Given the description of an element on the screen output the (x, y) to click on. 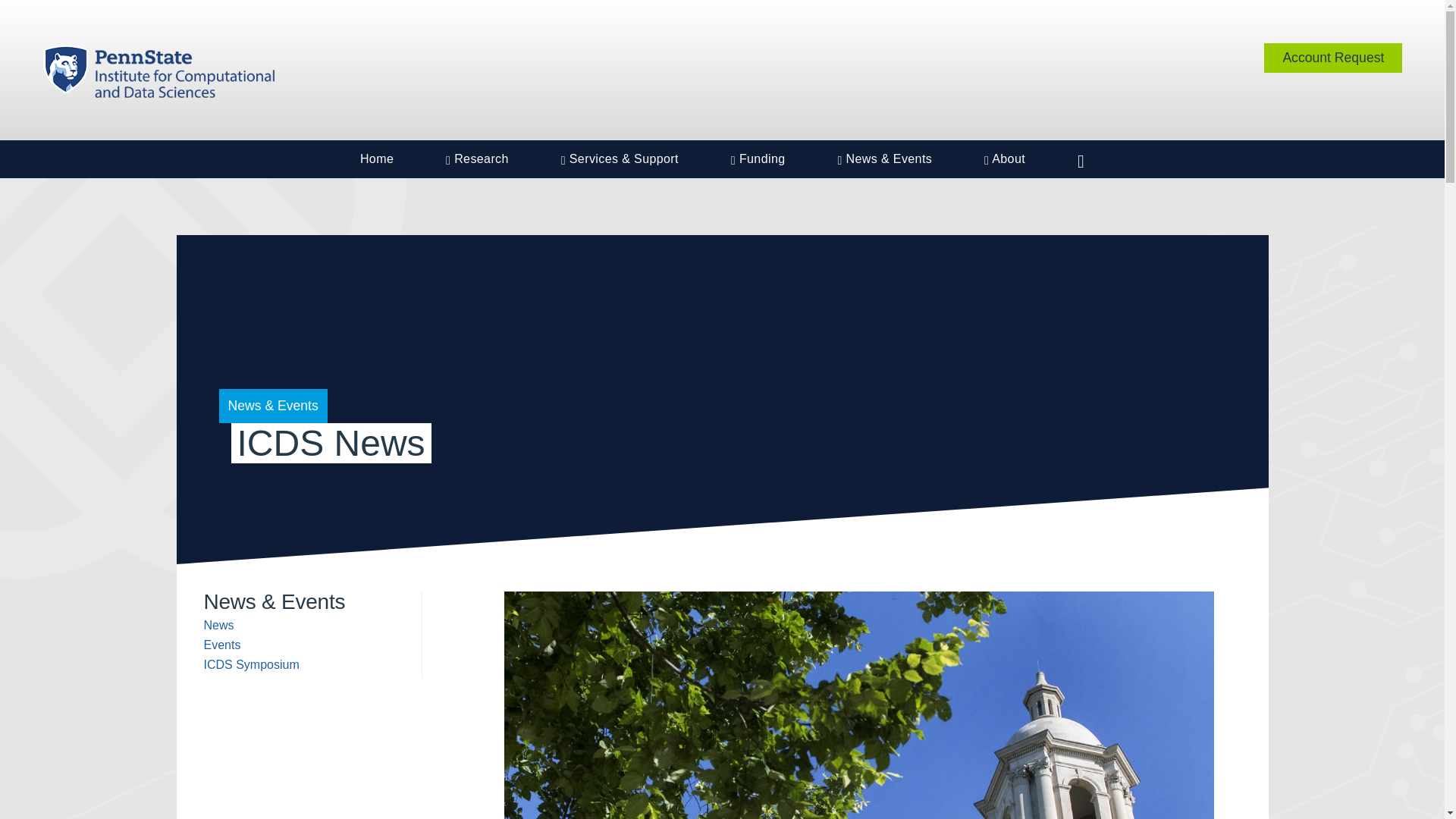
Research (477, 159)
Home (376, 159)
Account Request (1332, 57)
Funding (757, 159)
